Given the description of an element on the screen output the (x, y) to click on. 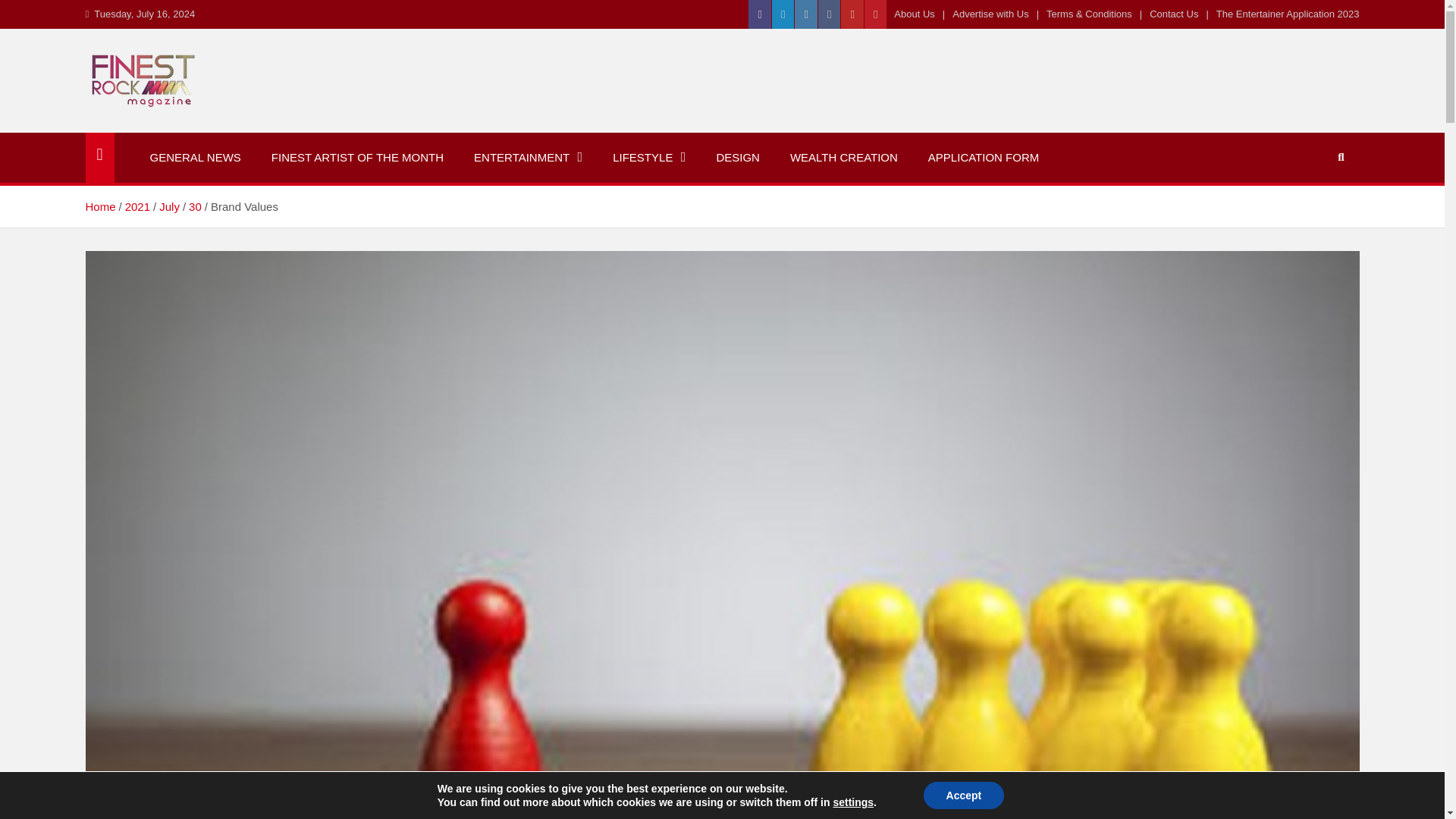
LIFESTYLE (648, 157)
FINEST ARTIST OF THE MONTH (357, 157)
Advertise with Us (989, 13)
30 (195, 205)
Contact Us (1174, 13)
DESIGN (737, 157)
About Us (913, 13)
2021 (137, 205)
ENTERTAINMENT (527, 157)
July (168, 205)
GENERAL NEWS (195, 157)
The Entertainer Application 2023 (1287, 13)
APPLICATION FORM (983, 157)
